Given the description of an element on the screen output the (x, y) to click on. 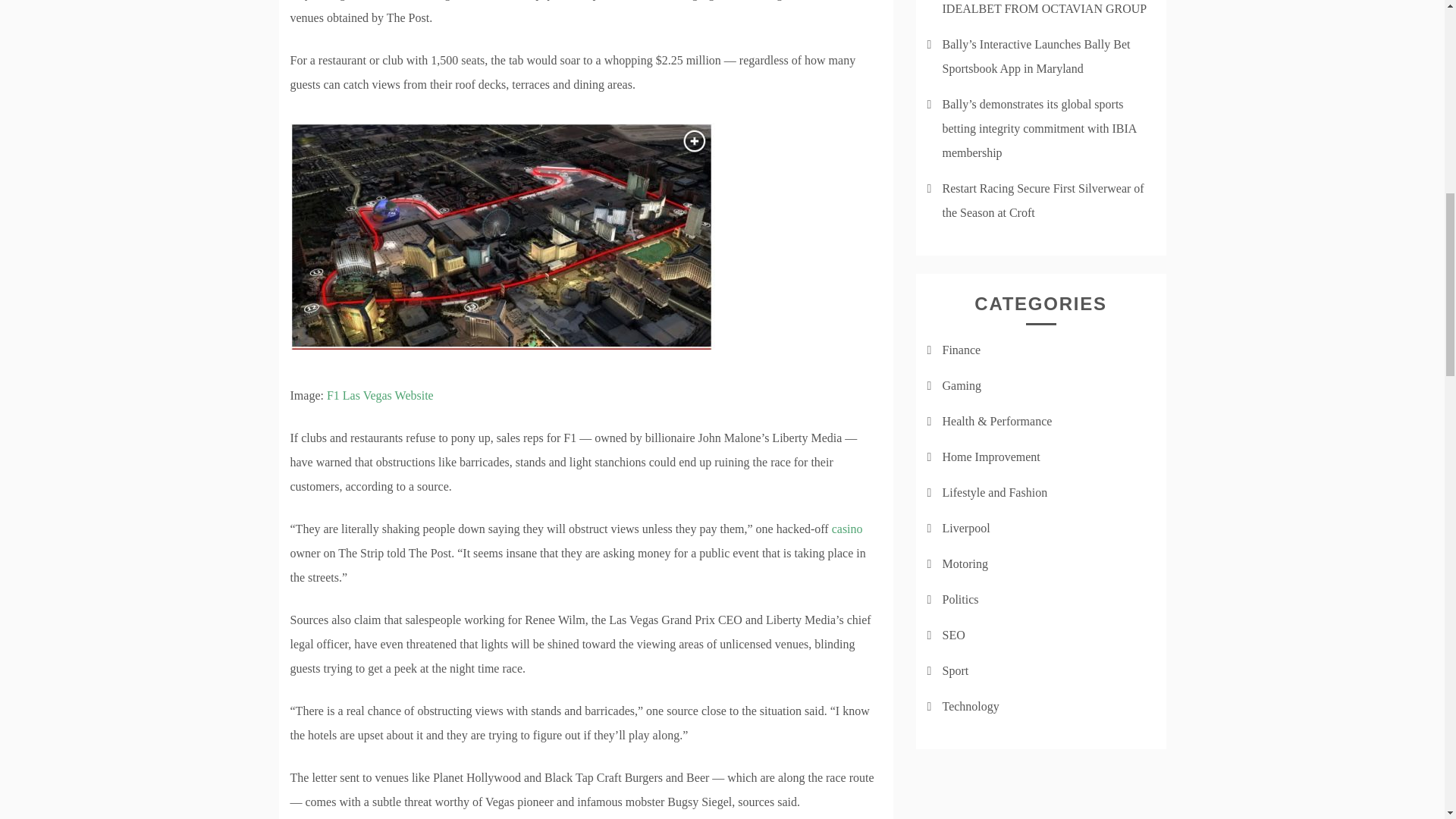
F1 Las Vegas Website  (381, 395)
casino (847, 528)
casino (847, 528)
